Given the description of an element on the screen output the (x, y) to click on. 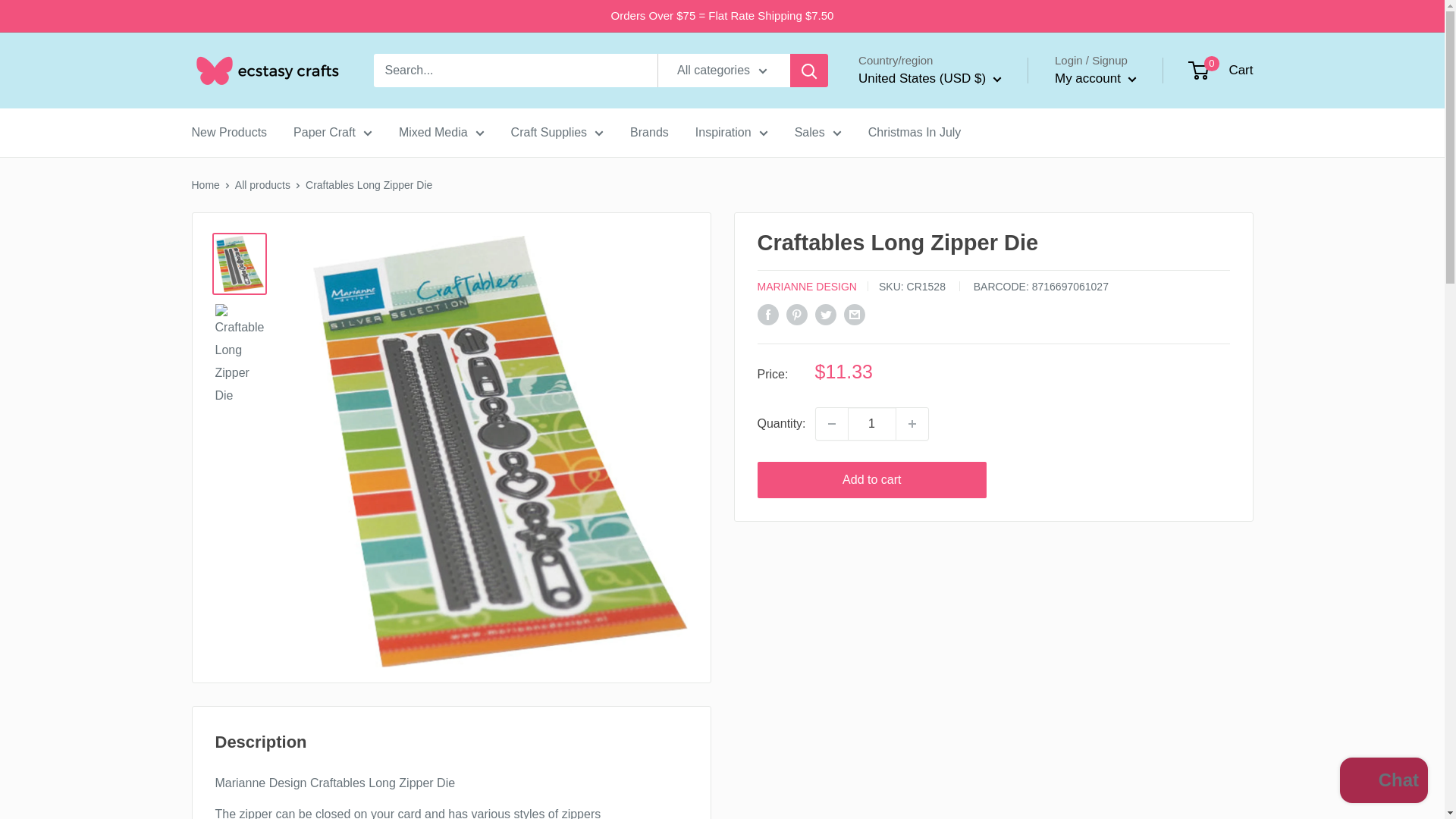
Increase quantity by 1 (912, 423)
Decrease quantity by 1 (831, 423)
1 (871, 423)
